Given the description of an element on the screen output the (x, y) to click on. 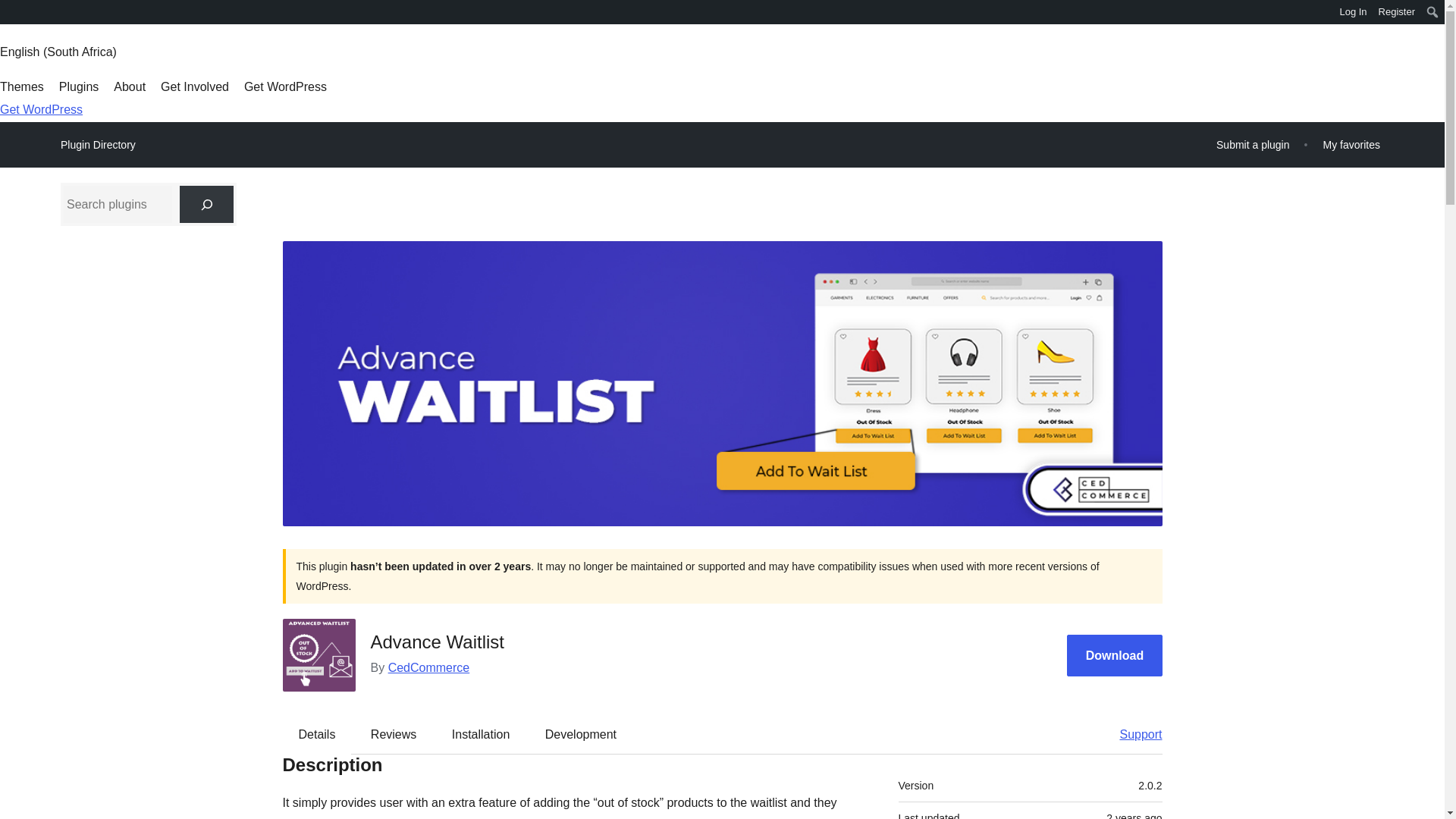
Plugins (79, 87)
Get Involved (194, 87)
About (129, 87)
Submit a plugin (1253, 144)
Reviews (392, 733)
Log In (1353, 12)
Themes (21, 87)
Development (580, 733)
Get WordPress (41, 109)
Installation (480, 733)
